Given the description of an element on the screen output the (x, y) to click on. 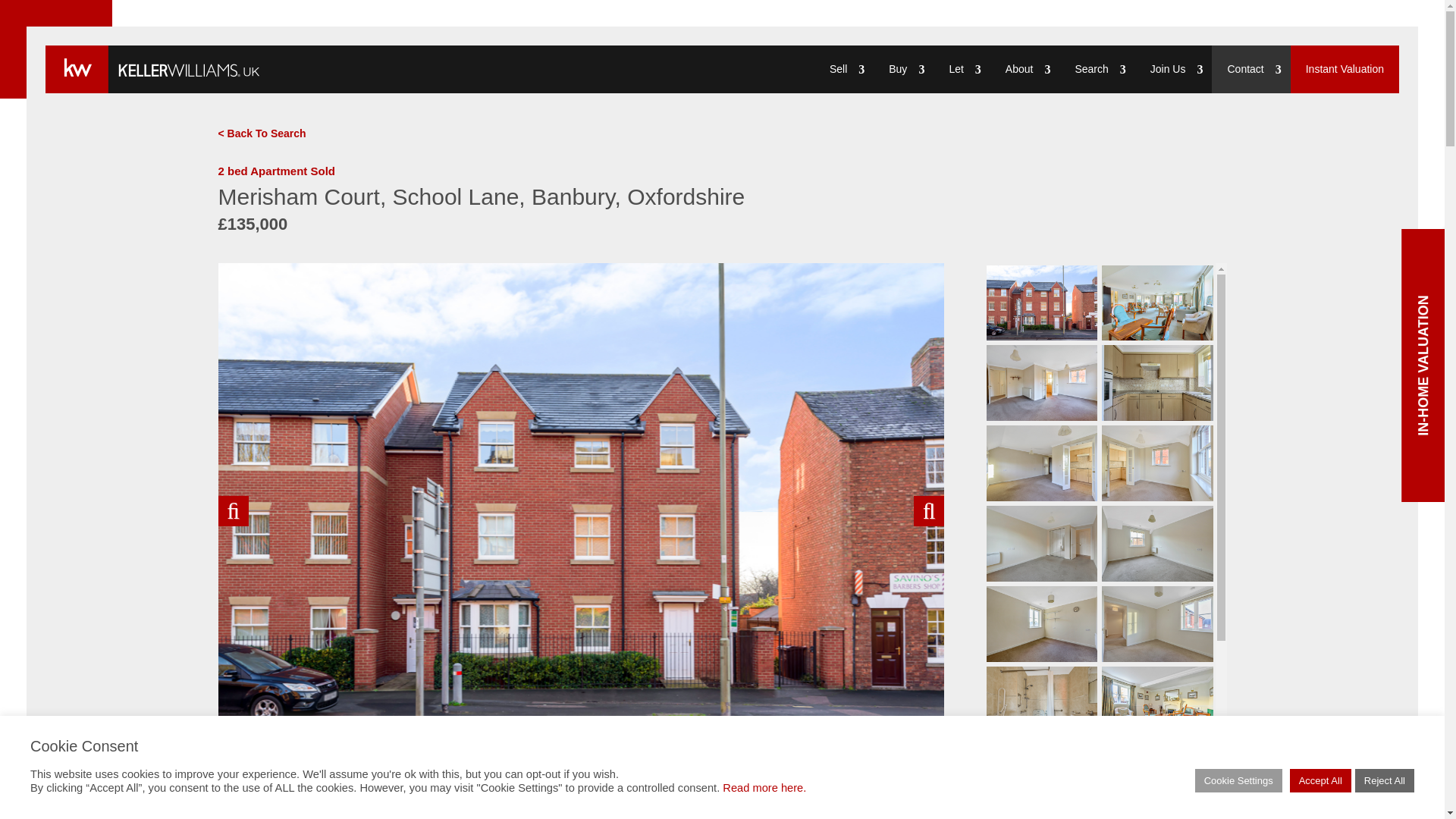
Sell (843, 69)
